Given the description of an element on the screen output the (x, y) to click on. 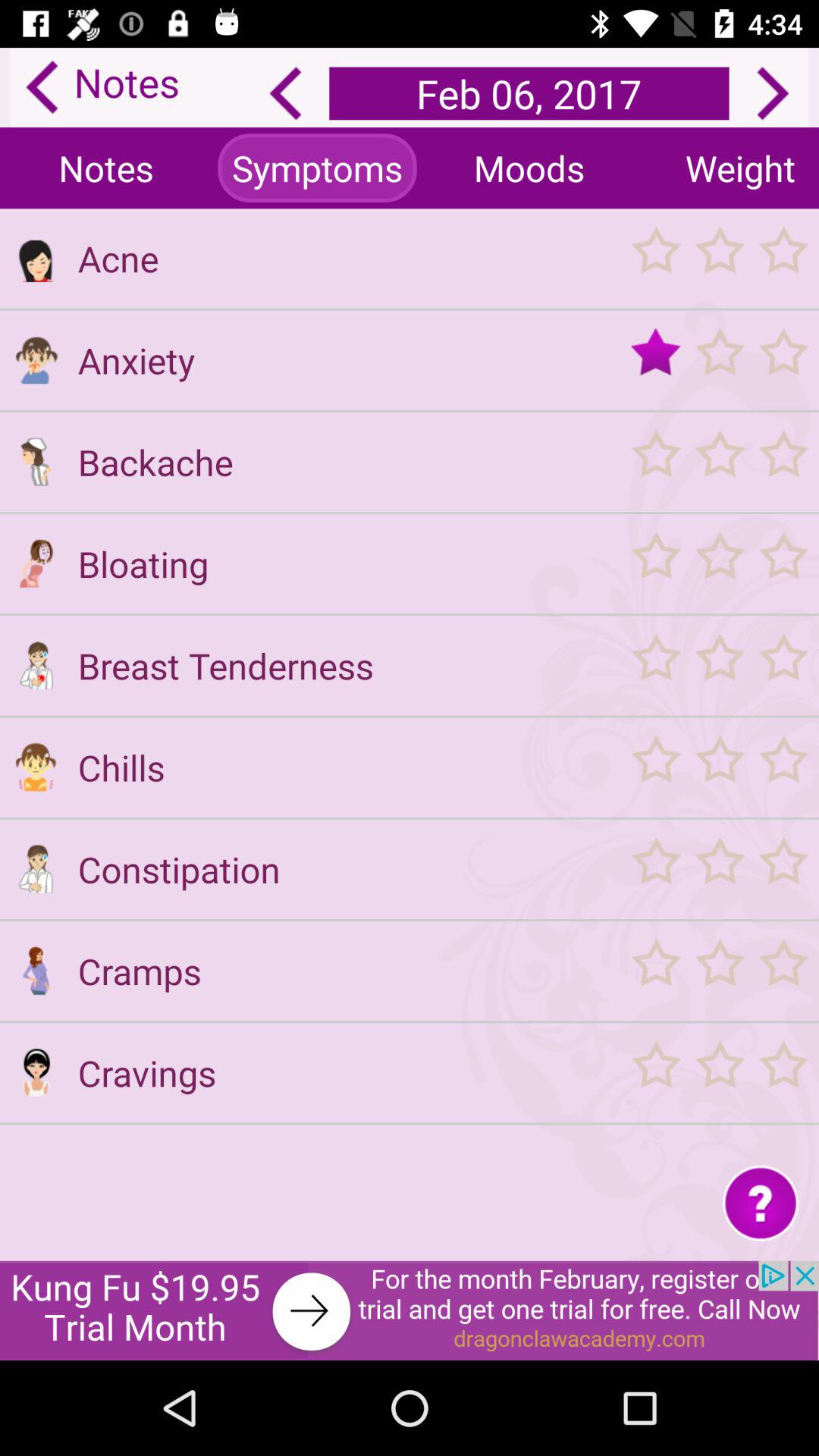
select a star rating (719, 1072)
